Given the description of an element on the screen output the (x, y) to click on. 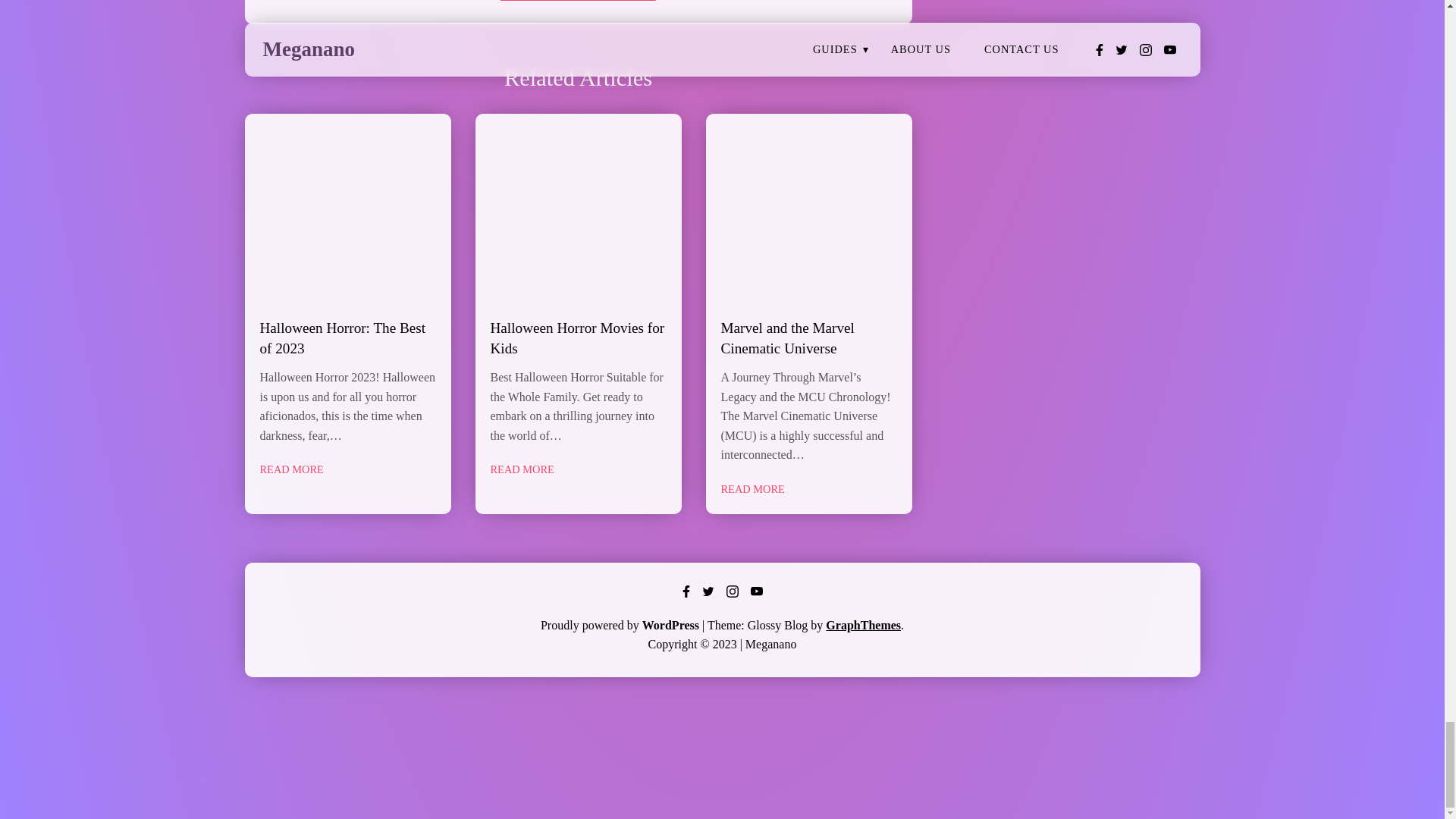
Verified by MonsterInsights (721, 757)
